Given the description of an element on the screen output the (x, y) to click on. 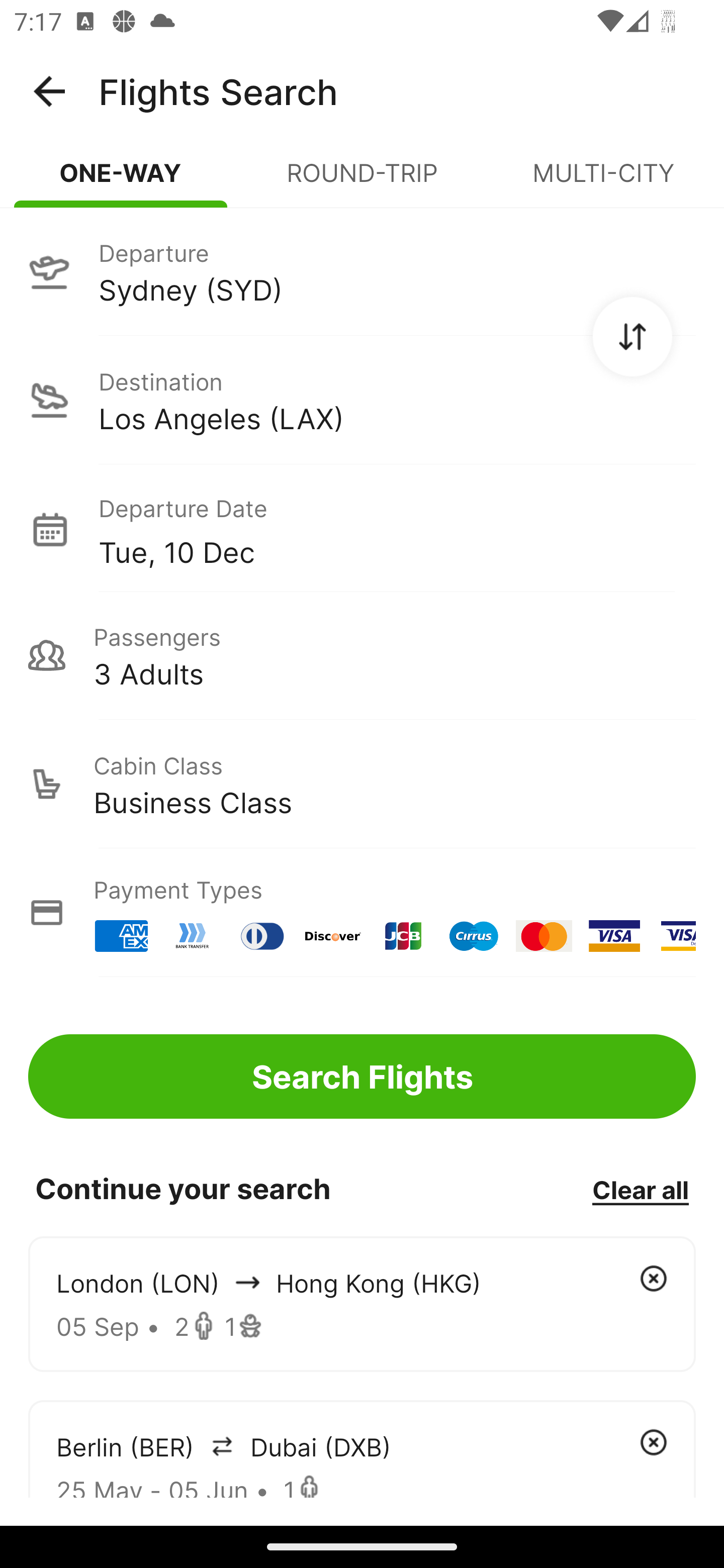
ONE-WAY (120, 180)
ROUND-TRIP (361, 180)
MULTI-CITY (603, 180)
Departure Sydney (SYD) (362, 270)
Destination Los Angeles (LAX) (362, 400)
Departure Date Tue, 10 Dec (396, 528)
Passengers 3 Adults (362, 655)
Cabin Class Business Class (362, 783)
Payment Types (362, 912)
Search Flights (361, 1075)
Clear all (640, 1189)
